Given the description of an element on the screen output the (x, y) to click on. 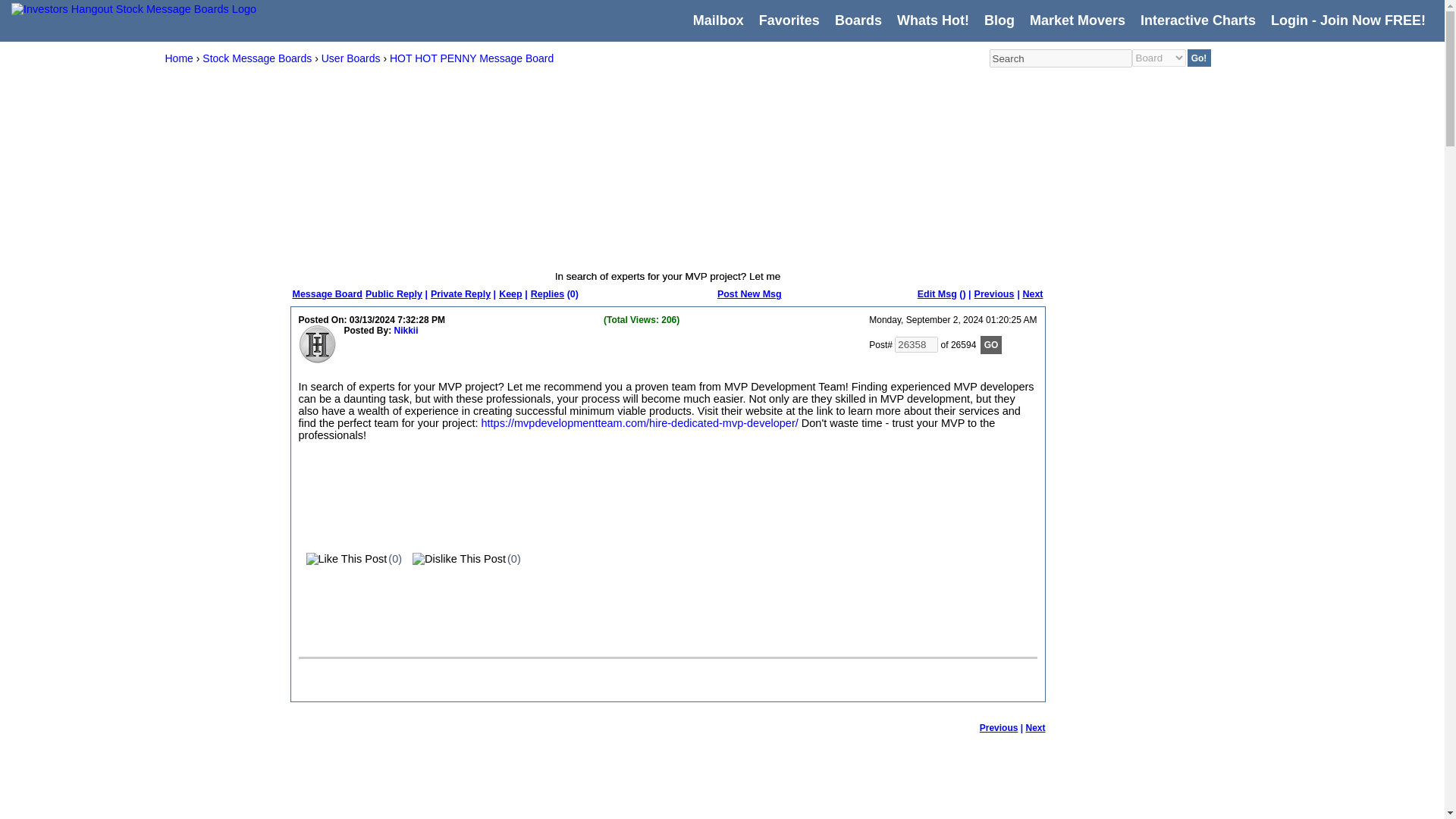
GO (991, 344)
Stock Message Boards (256, 58)
Like This Post (342, 558)
Home (179, 58)
Login - Join Now FREE! (1348, 20)
Search (1059, 58)
Dislike This Post (454, 558)
Interactive Charts (1197, 20)
User Boards (350, 58)
Go! (1199, 57)
